Given the description of an element on the screen output the (x, y) to click on. 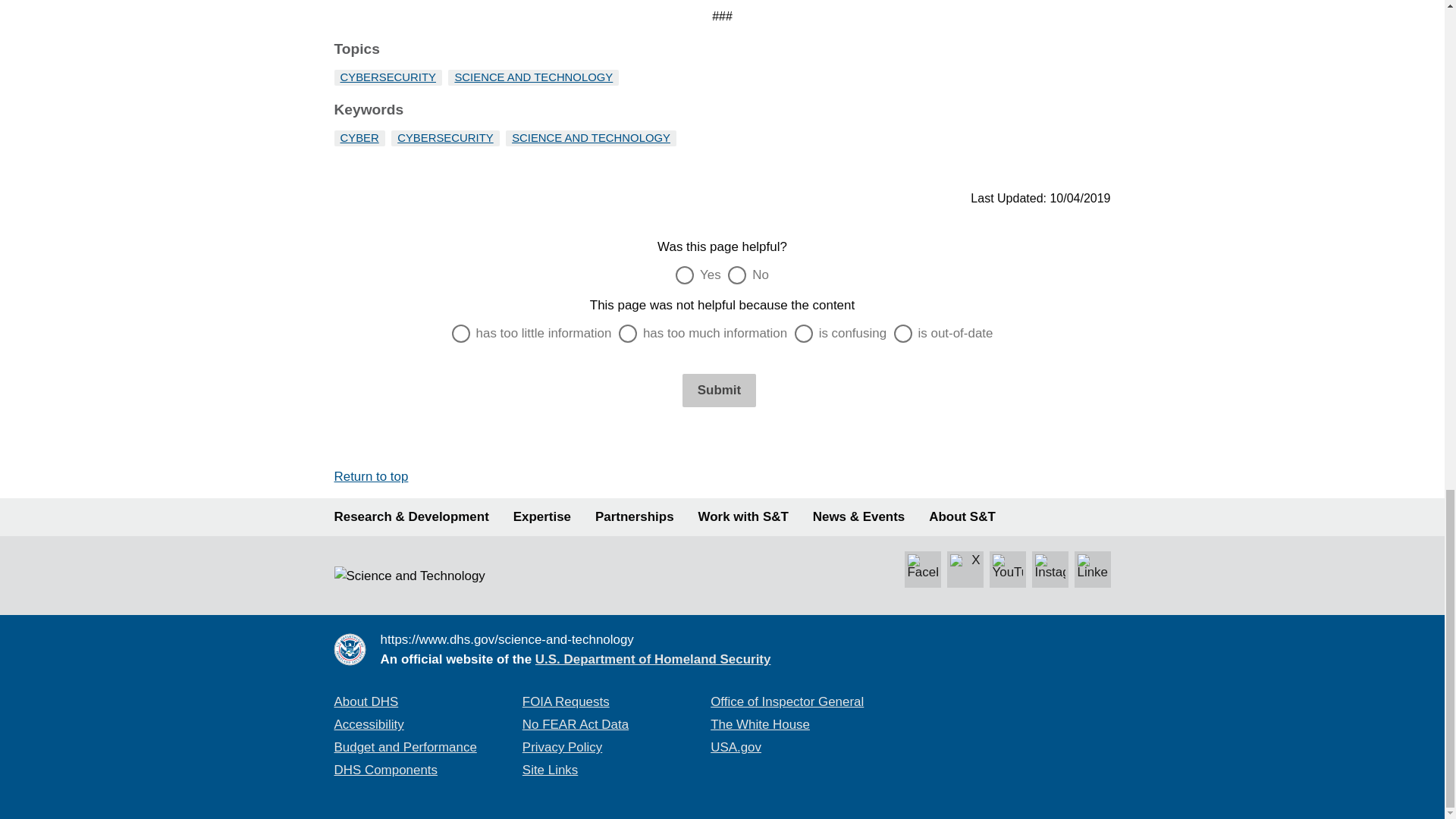
SCIENCE AND TECHNOLOGY (533, 77)
CYBERSECURITY (387, 77)
National Terrorism Advisory System (1018, 697)
CYBER (358, 137)
Submit (718, 390)
USA.gov (735, 747)
Submit (718, 390)
SCIENCE AND TECHNOLOGY (590, 137)
Expertise (541, 517)
Partnerships (634, 517)
The White House (759, 724)
Return to top (370, 476)
DHS Components (385, 769)
Our Work (410, 517)
Submit (718, 390)
